Given the description of an element on the screen output the (x, y) to click on. 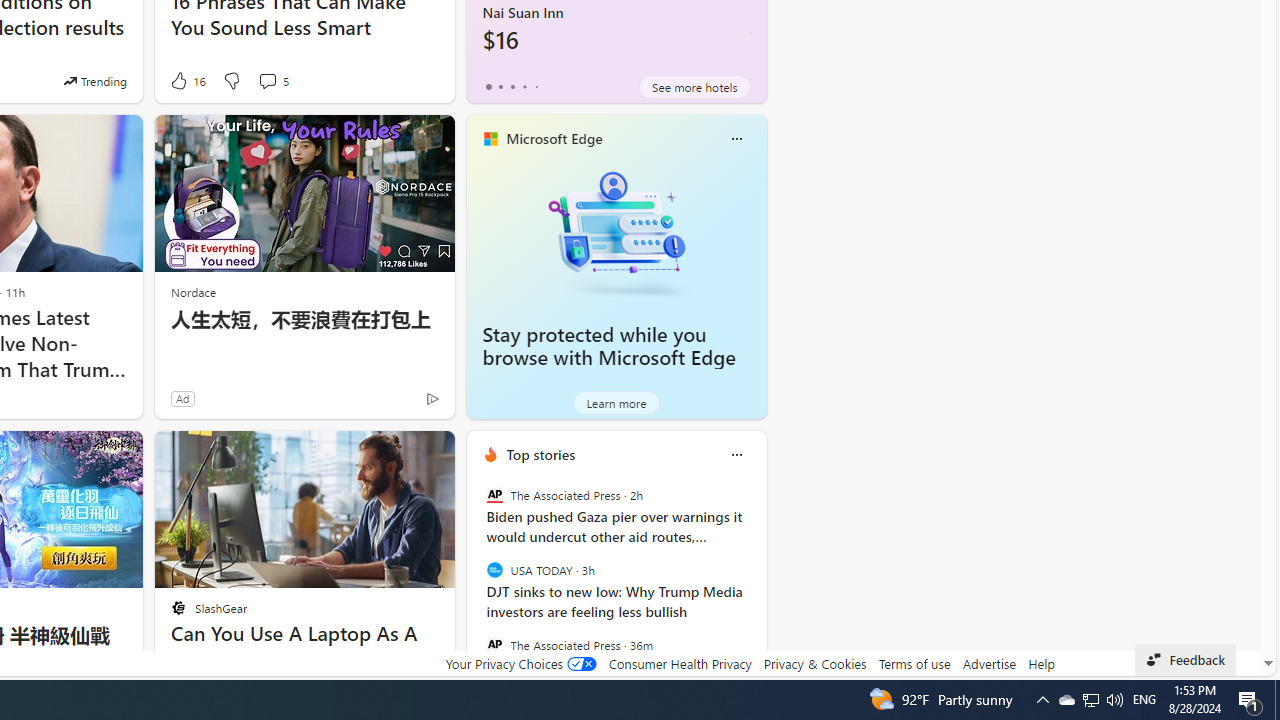
Ad (182, 398)
Privacy & Cookies (814, 663)
Consumer Health Privacy (680, 663)
The Associated Press (494, 644)
Hide this story (393, 454)
View comments 5 Comment (272, 80)
previous (476, 583)
Class: icon-img (736, 454)
